Given the description of an element on the screen output the (x, y) to click on. 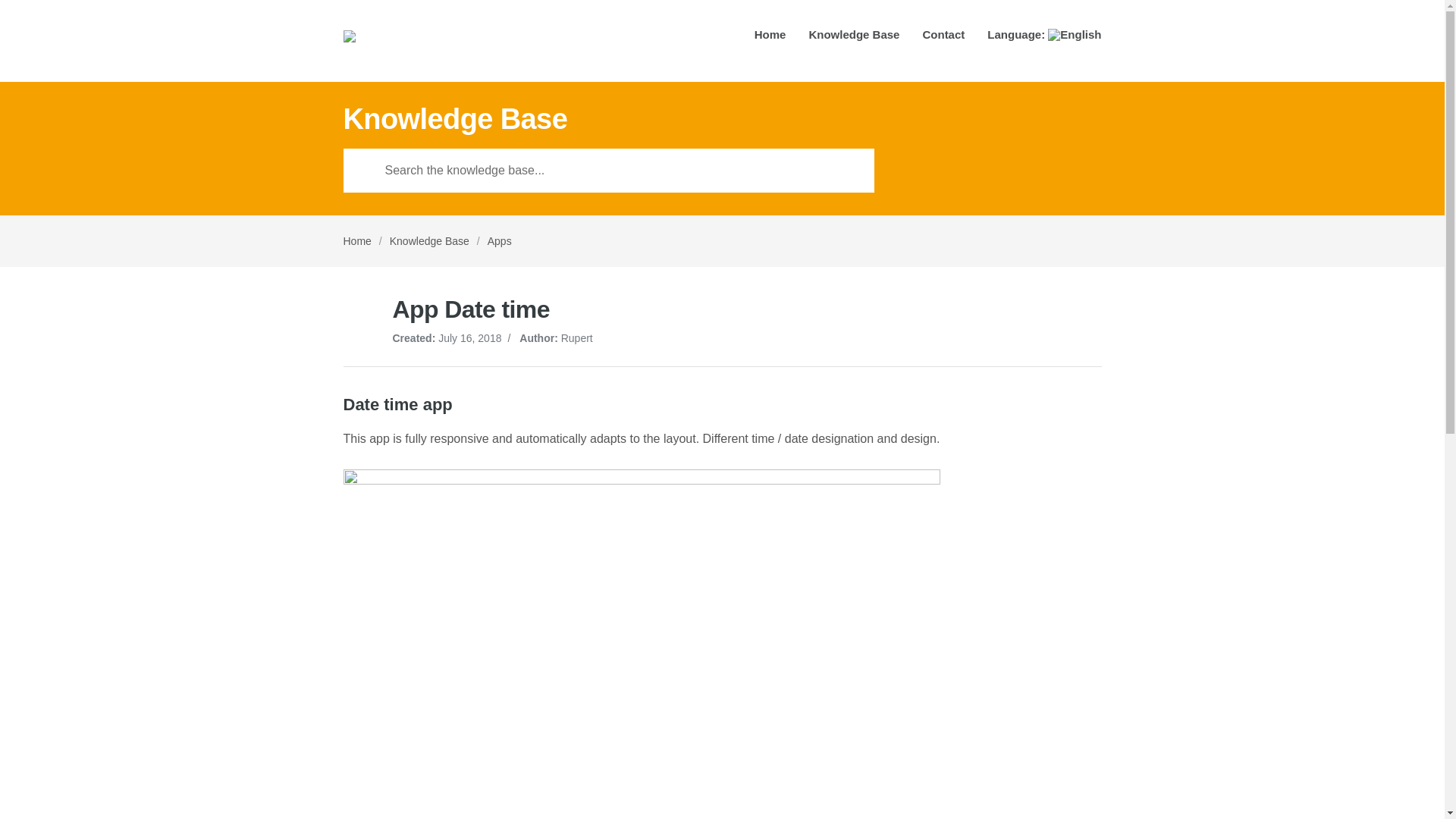
English (1043, 39)
Apps (499, 241)
Language:  (1043, 39)
Knowledge Base (853, 39)
Contact (942, 39)
Home (356, 241)
Knowledge Base (429, 241)
Home (770, 39)
Search the knowledge base... (607, 170)
Support Neovo Signage (412, 40)
